Given the description of an element on the screen output the (x, y) to click on. 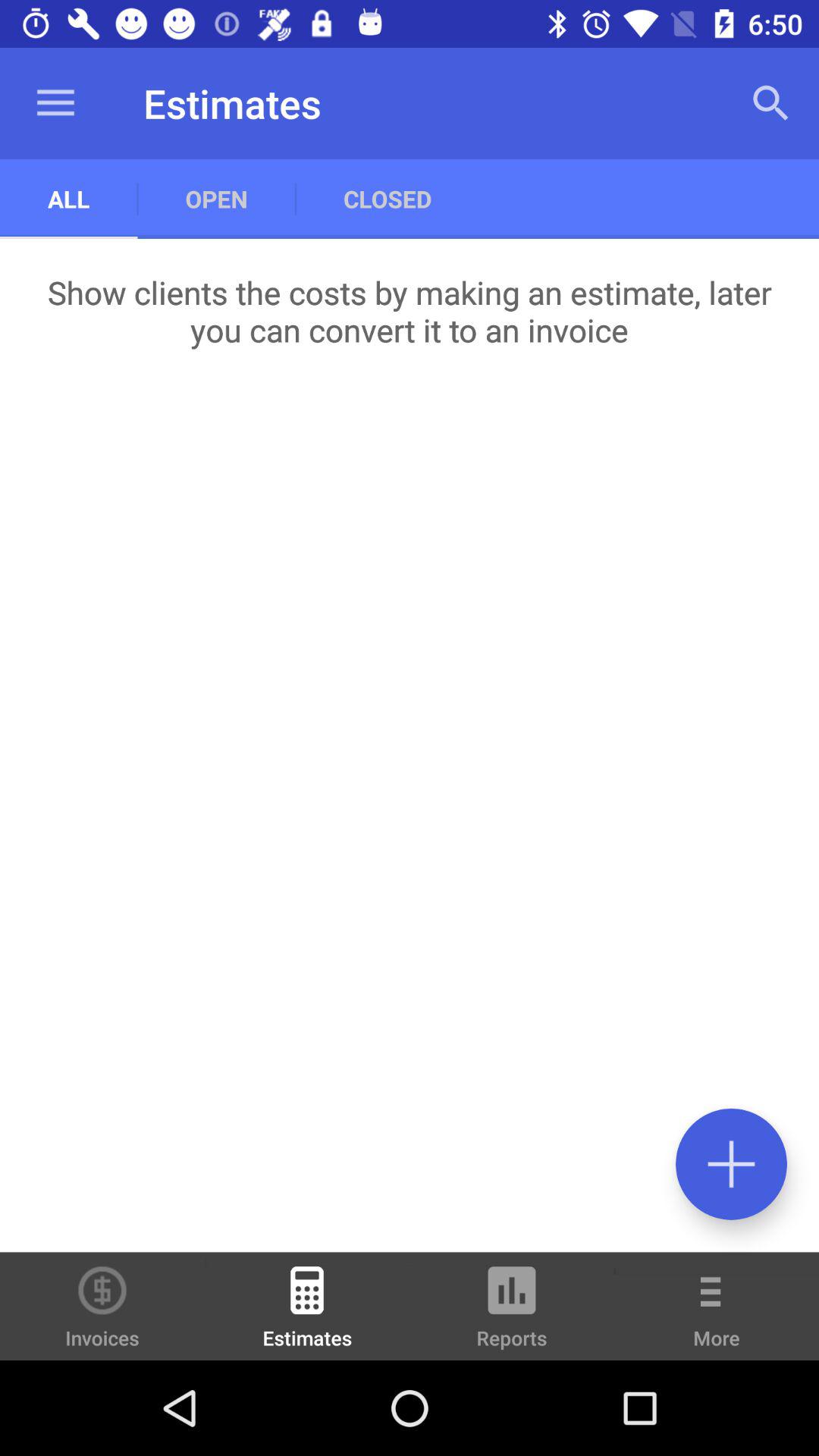
open the more (716, 1317)
